Given the description of an element on the screen output the (x, y) to click on. 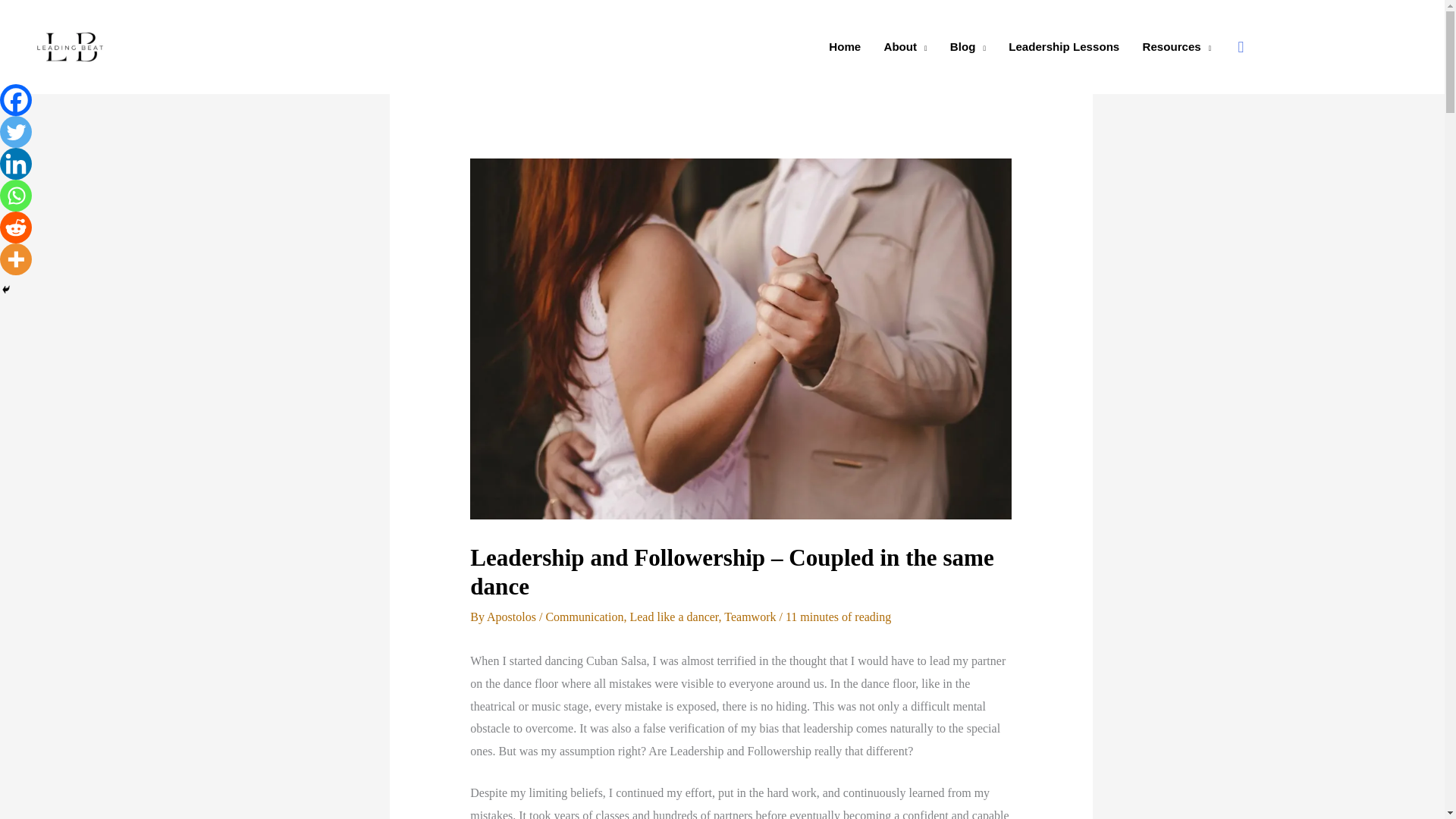
Twitter (16, 132)
Linkedin (16, 163)
Home (844, 47)
Leadership Lessons (1064, 47)
Blog (968, 47)
Leading Beat (193, 46)
About (904, 47)
Facebook (16, 100)
Resources (1177, 47)
Reddit (16, 227)
